Given the description of an element on the screen output the (x, y) to click on. 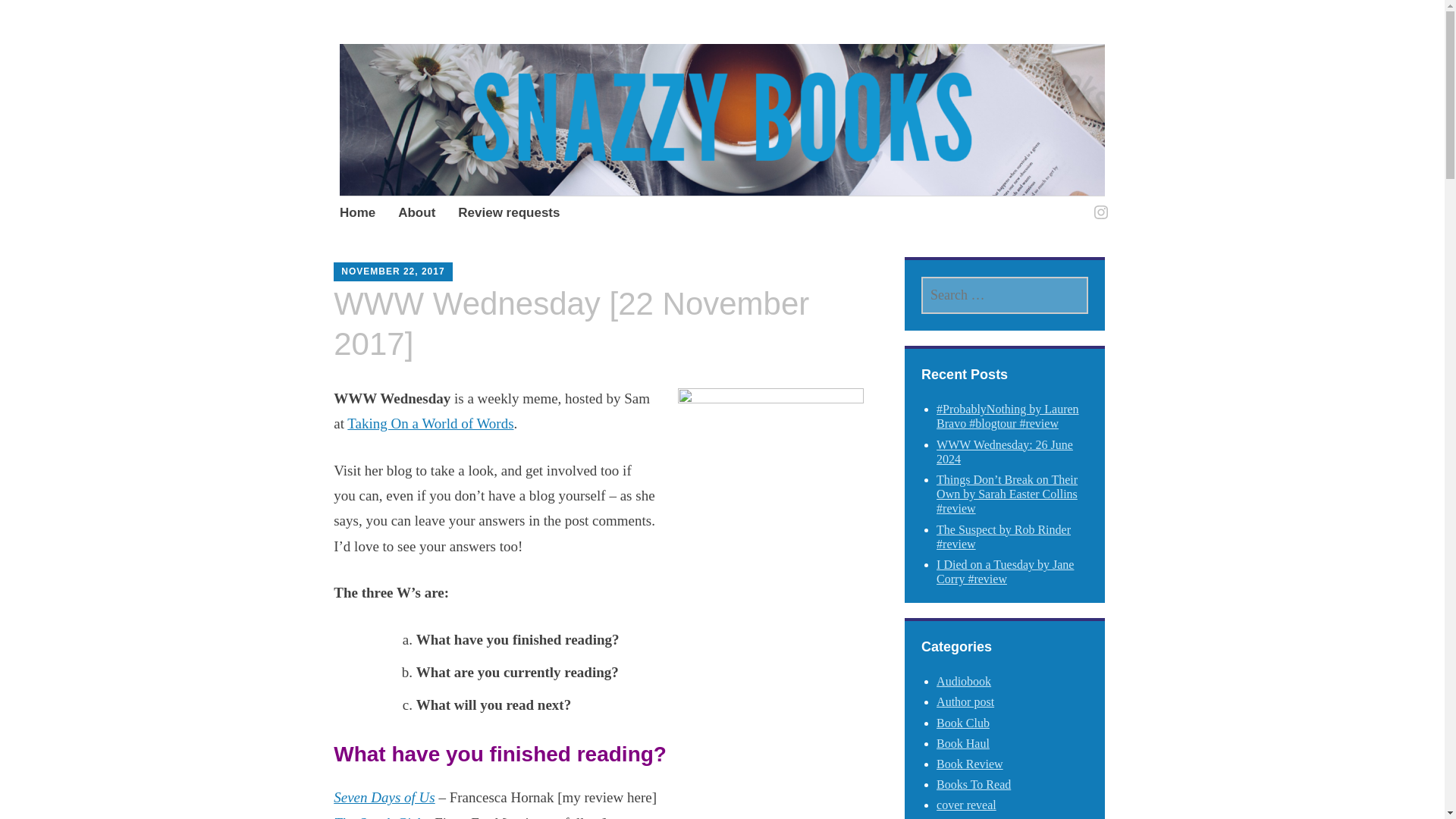
Snazzy Books (460, 100)
Home (357, 214)
LAURA (481, 266)
Seven Days of Us (384, 797)
Taking On a World of Words (430, 423)
The Spark Girl (376, 816)
NOVEMBER 22, 2017 (392, 271)
Review requests (508, 214)
About (416, 214)
